Given the description of an element on the screen output the (x, y) to click on. 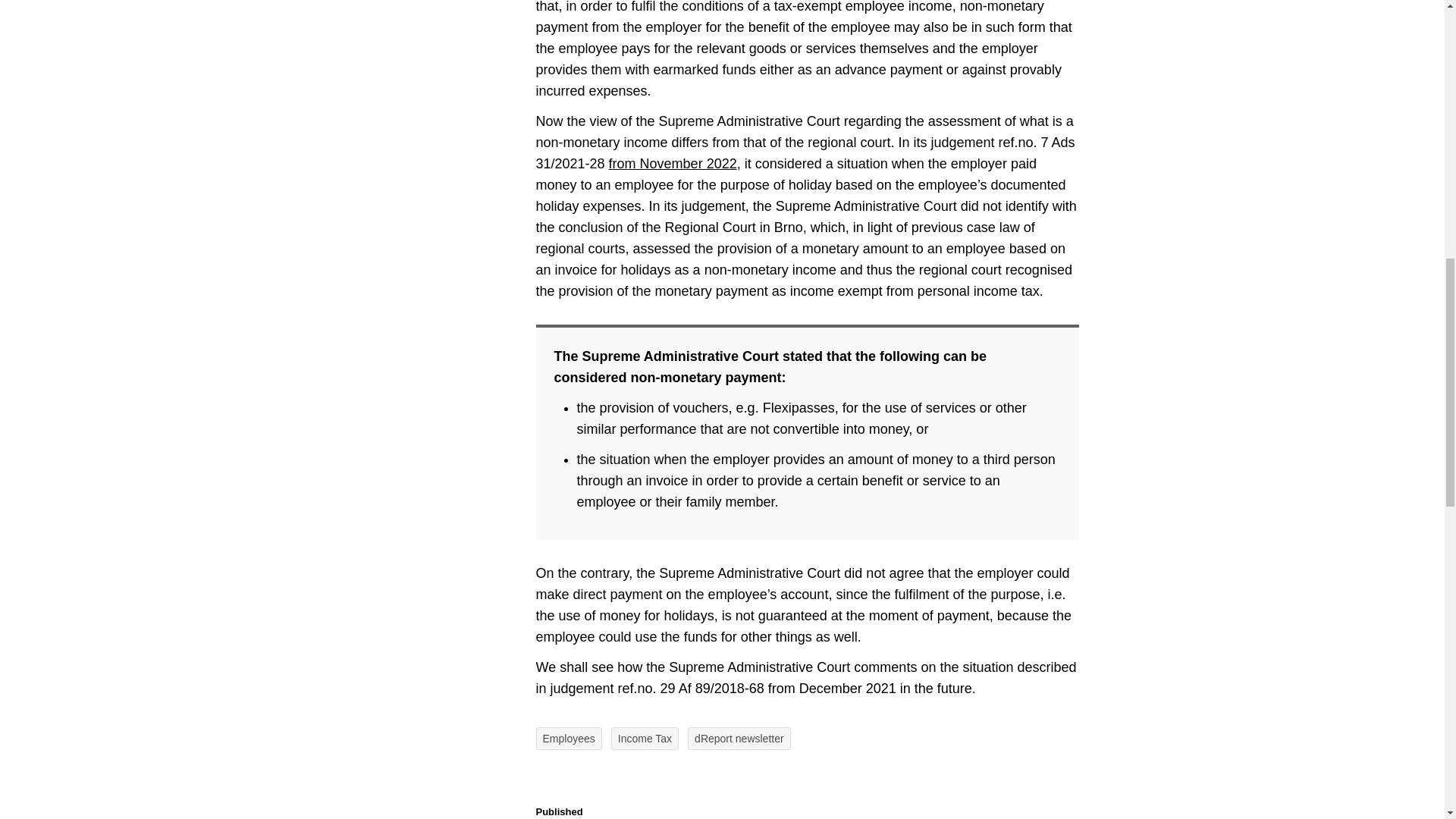
Employees (568, 738)
dReport newsletter (738, 738)
Income Tax (644, 738)
